Given the description of an element on the screen output the (x, y) to click on. 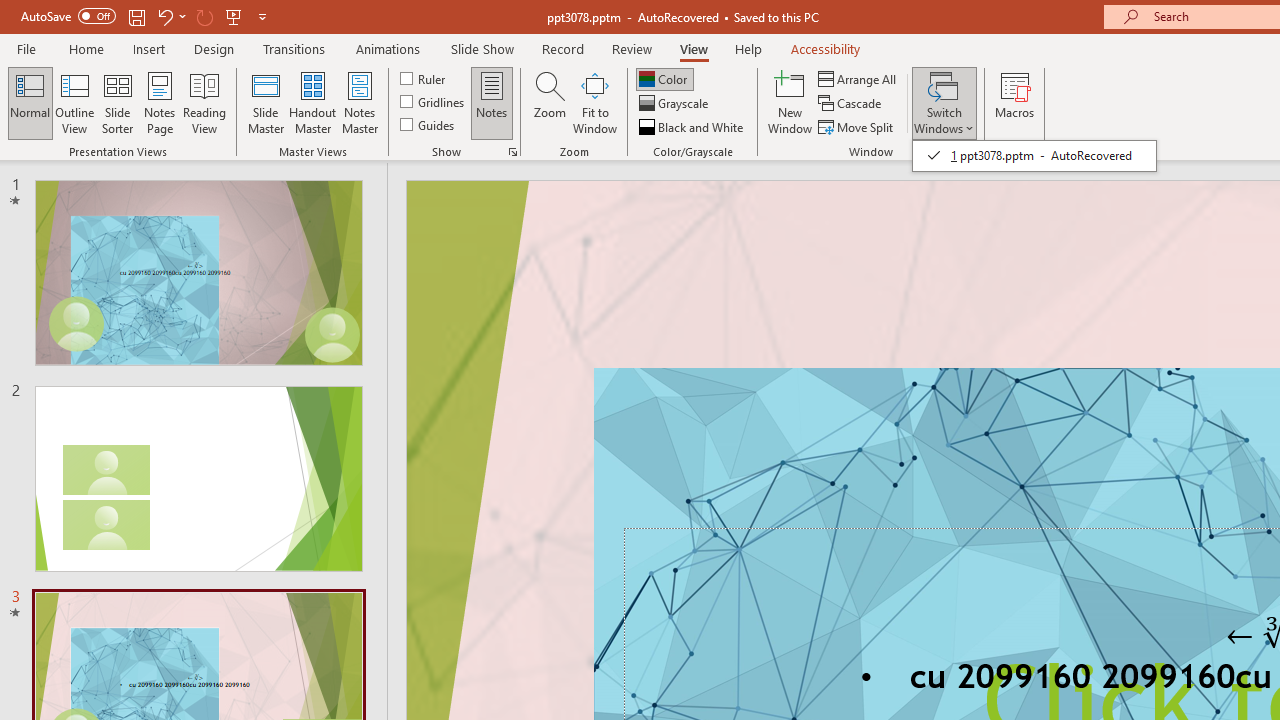
Handout Master (312, 102)
Color (664, 78)
Slide Master (265, 102)
